Given the description of an element on the screen output the (x, y) to click on. 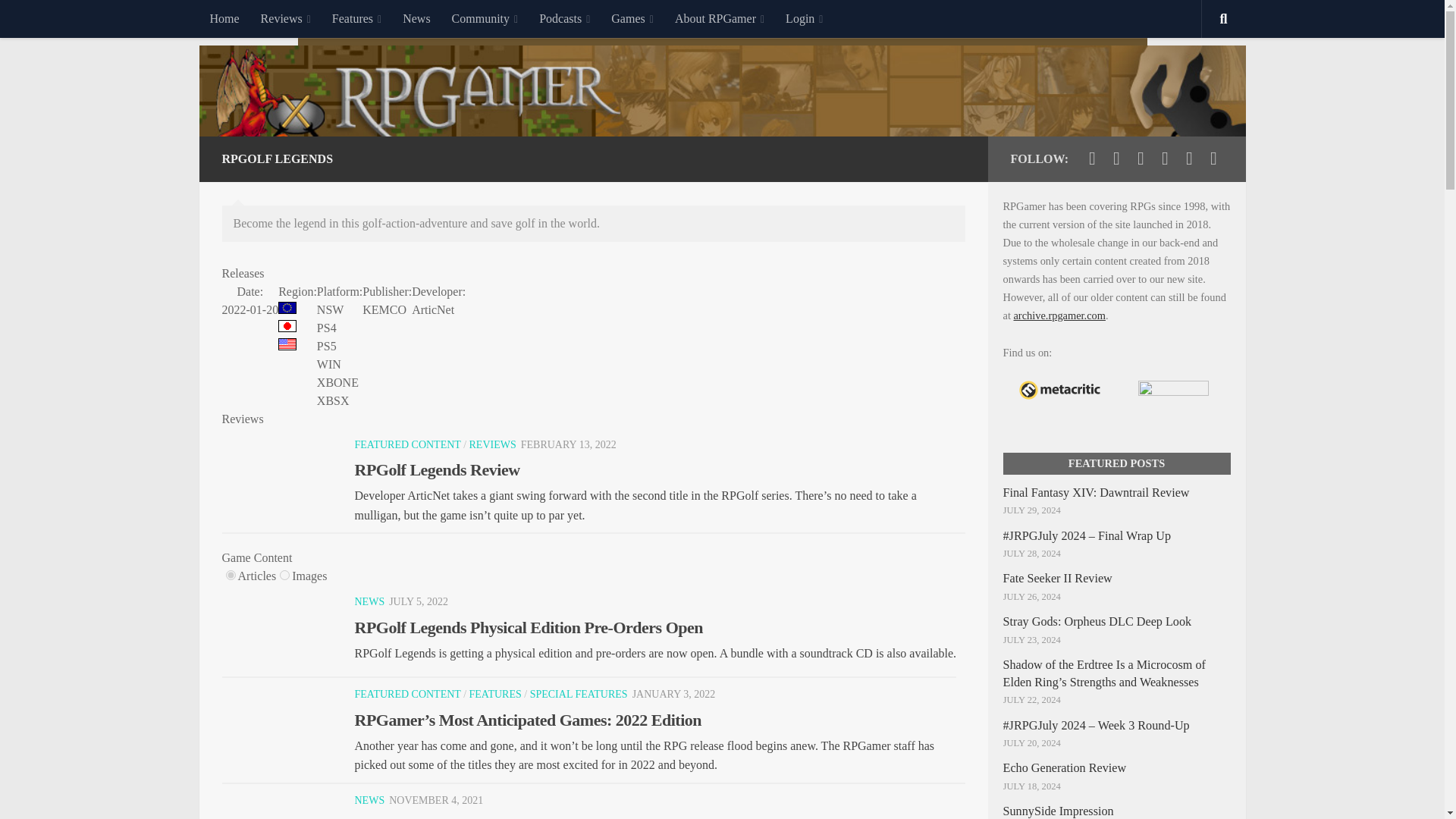
Skip to content (59, 20)
on (230, 574)
Follow us on Twitch (1164, 158)
Follow us on Discord (1188, 158)
on (284, 574)
Follow us on Rss (1213, 158)
Follow us on Facebook (1115, 158)
Follow us on Twitter (1091, 158)
Follow us on Youtube (1140, 158)
